Given the description of an element on the screen output the (x, y) to click on. 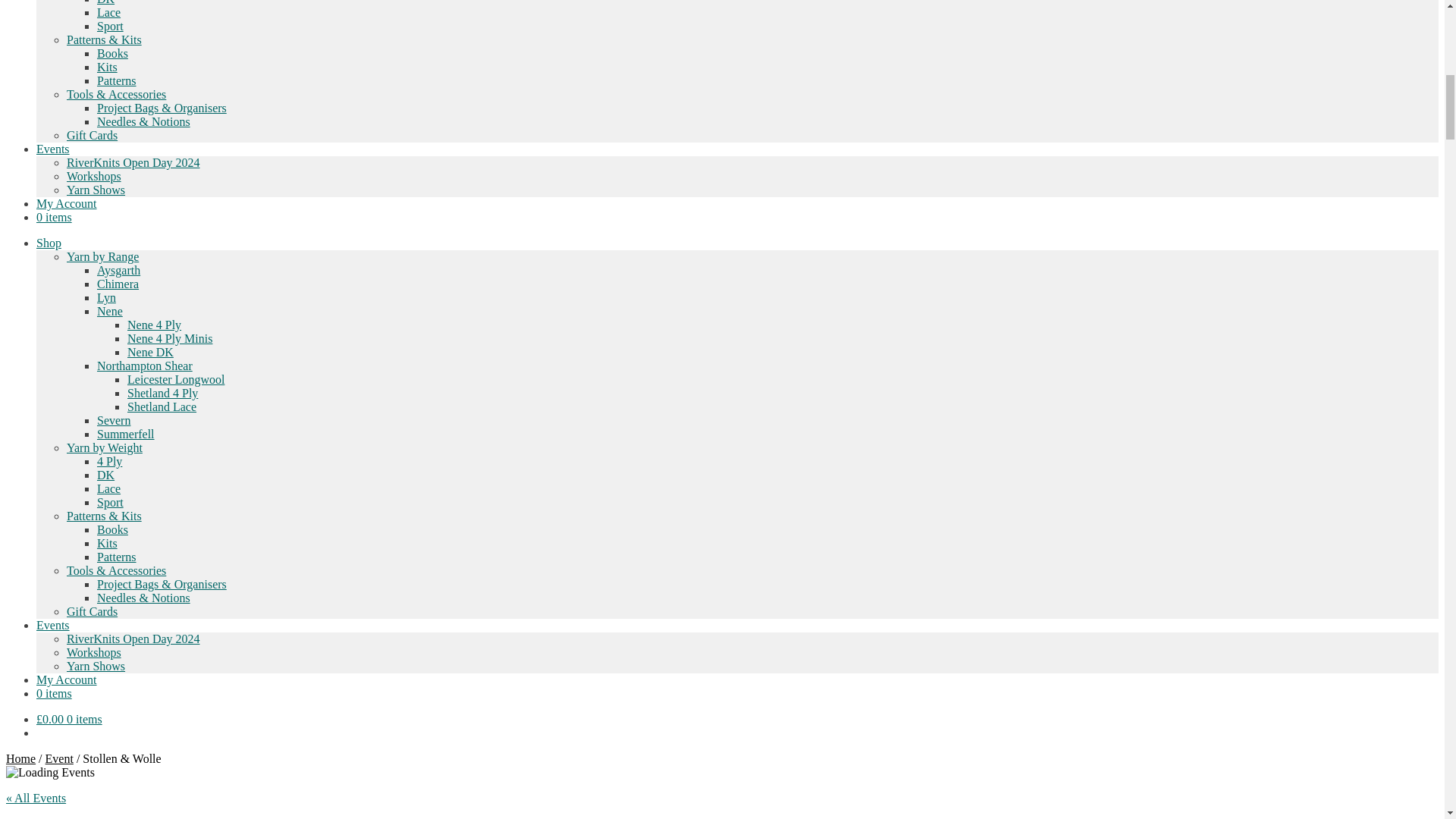
Start shopping (53, 693)
Start shopping (53, 216)
View your shopping cart (68, 718)
